Given the description of an element on the screen output the (x, y) to click on. 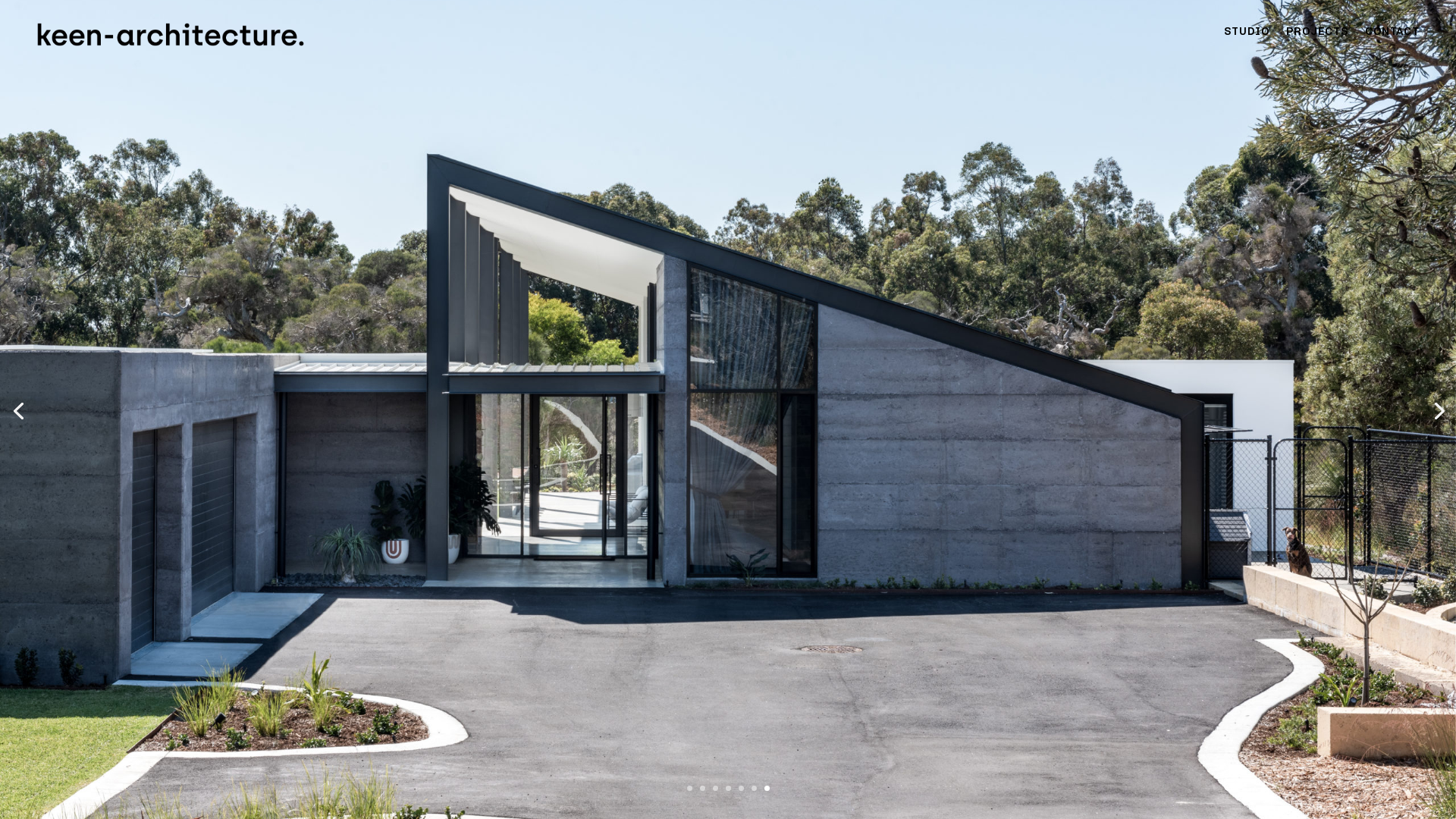
5 Element type: text (740, 787)
7 Element type: text (766, 787)
STUDIO Element type: text (1246, 34)
Full-Black Element type: hover (170, 34)
3 Element type: text (715, 787)
4 Element type: text (727, 787)
1 Element type: text (689, 787)
6 Element type: text (753, 787)
CONTACT Element type: text (1392, 34)
2 Element type: text (701, 787)
PROJECTS Element type: text (1317, 34)
